Given the description of an element on the screen output the (x, y) to click on. 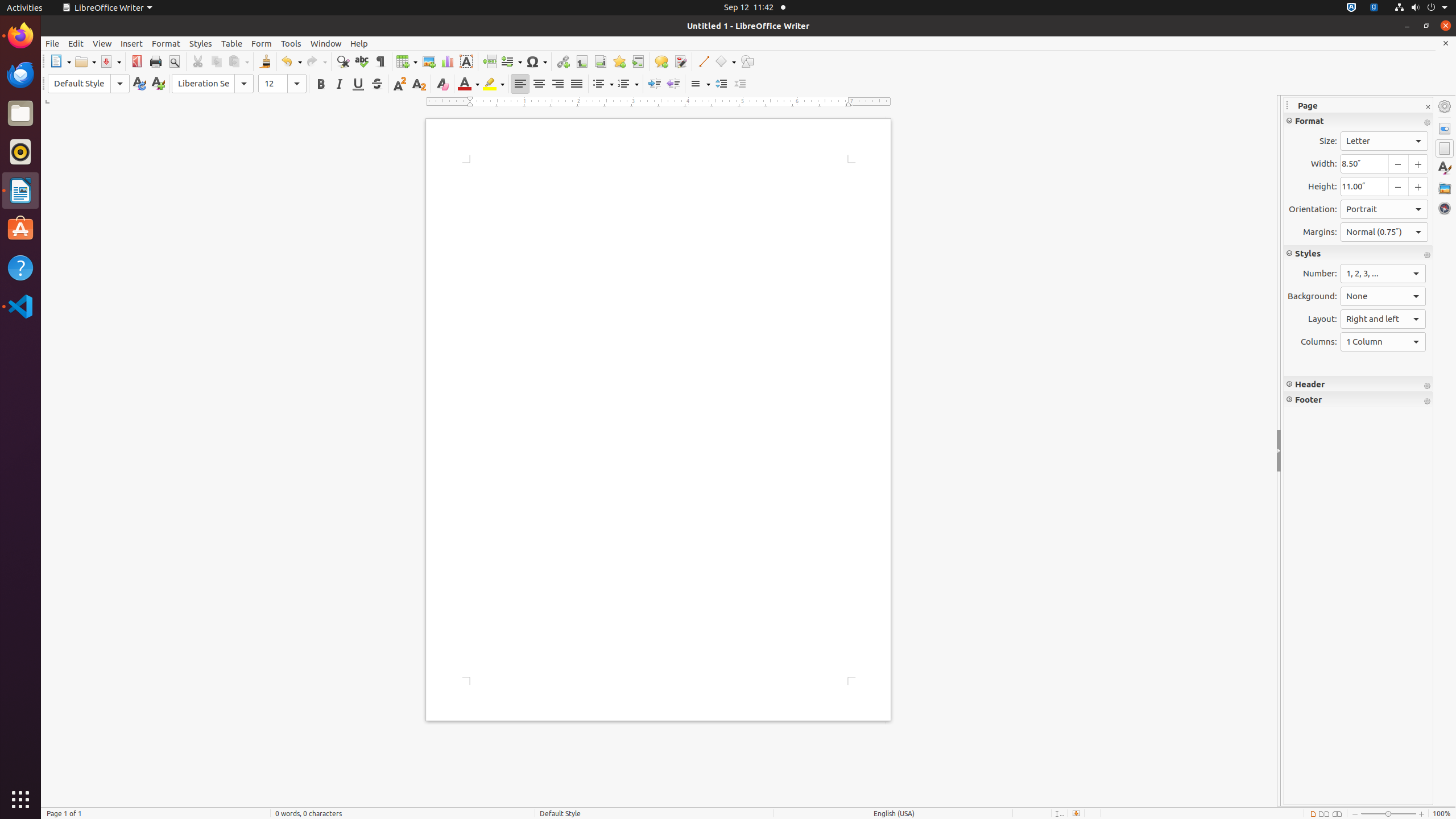
Visual Studio Code Element type: push-button (20, 306)
:1.72/StatusNotifierItem Element type: menu (1350, 7)
Number: Element type: combo-box (1382, 273)
Update Element type: push-button (138, 83)
Justified Element type: toggle-button (576, 83)
